Given the description of an element on the screen output the (x, y) to click on. 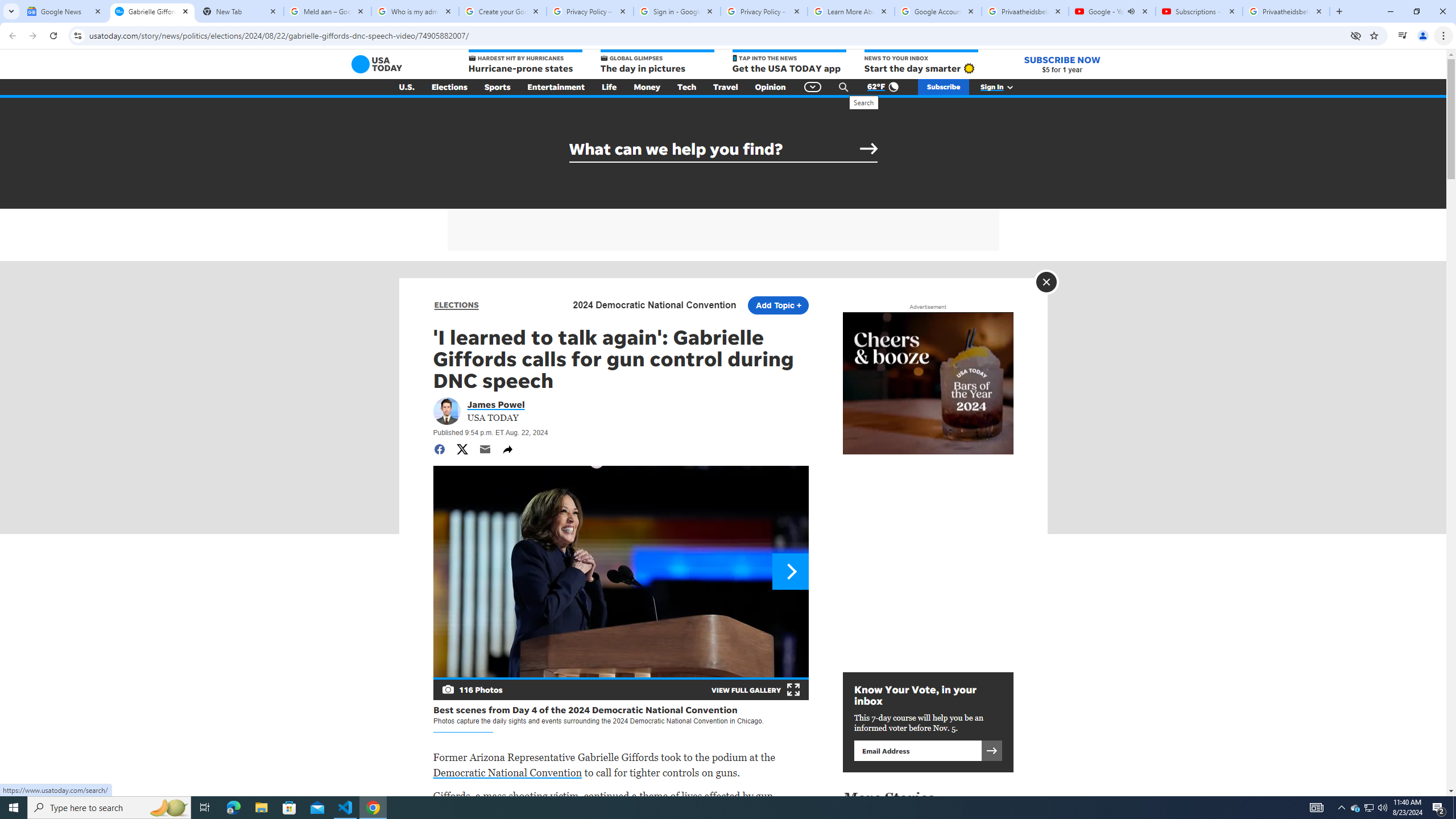
Money (646, 87)
Create your Google Account (502, 11)
Share natively (506, 449)
Submit to sign up for newsletter (991, 750)
Democratic National Convention (507, 772)
Portrait of James Powel (446, 411)
Share to Facebook (438, 449)
Subscriptions - YouTube (1198, 11)
Email address (917, 750)
